Given the description of an element on the screen output the (x, y) to click on. 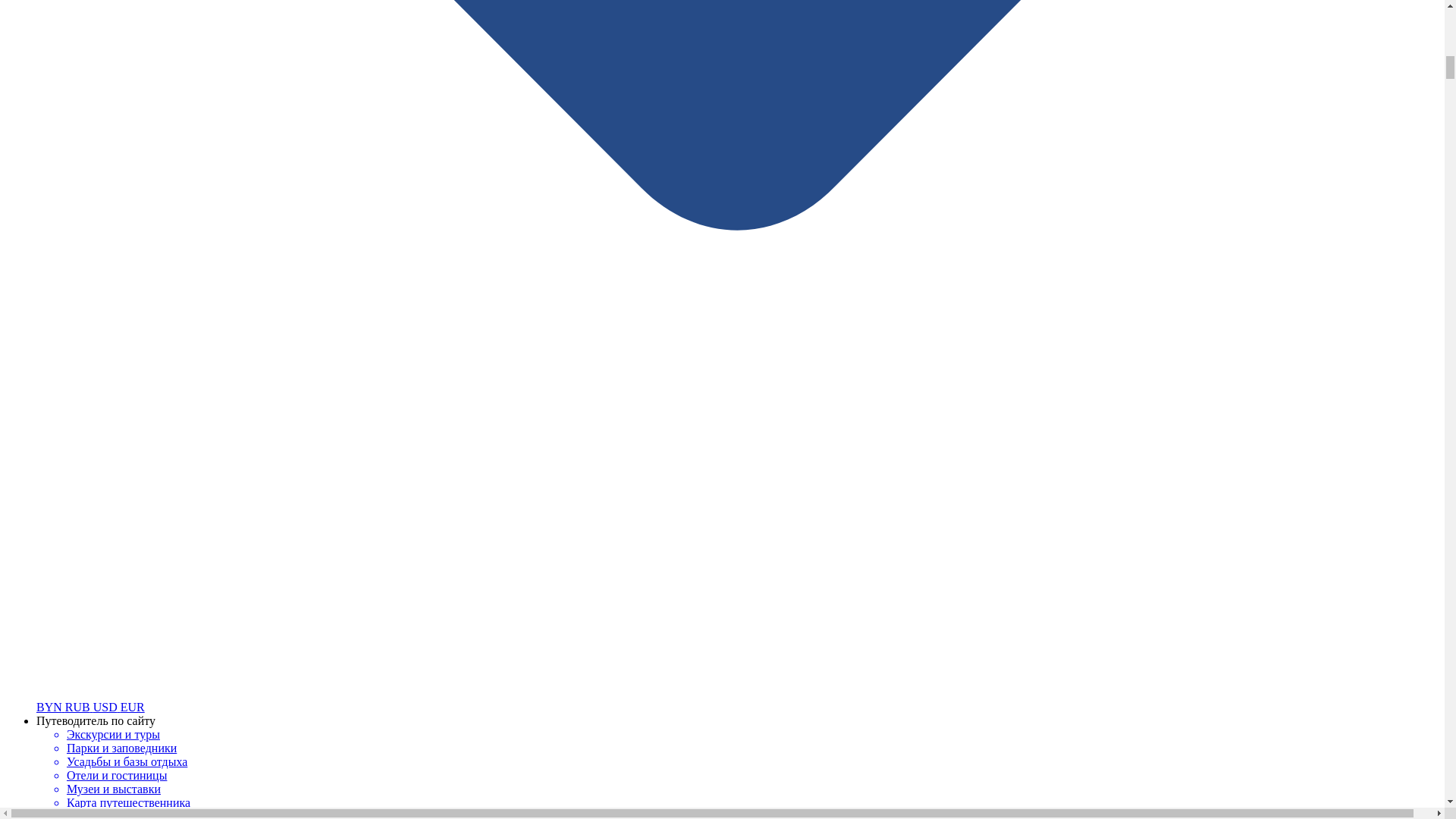
USD (106, 707)
EUR (132, 707)
RUB (79, 707)
BYN (50, 707)
